Given the description of an element on the screen output the (x, y) to click on. 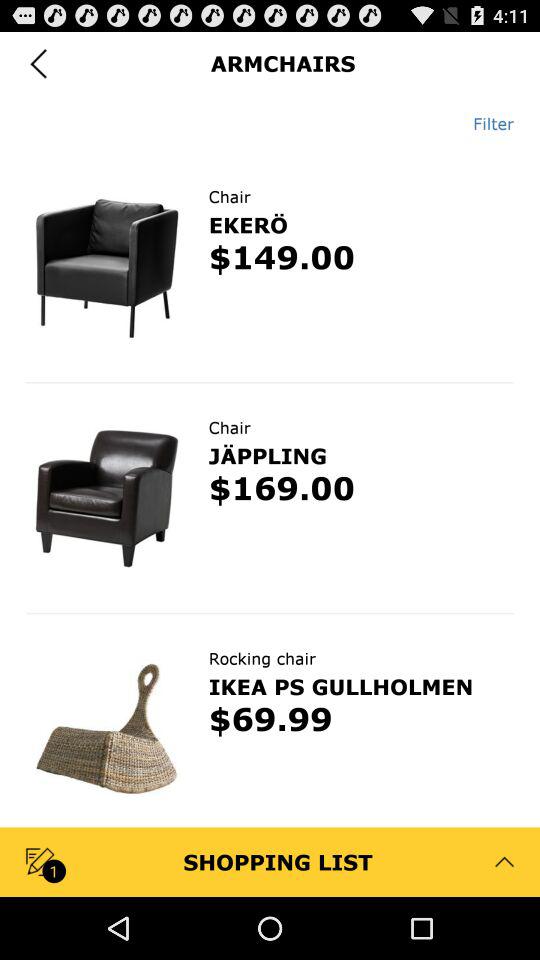
jump to the filter (486, 123)
